Given the description of an element on the screen output the (x, y) to click on. 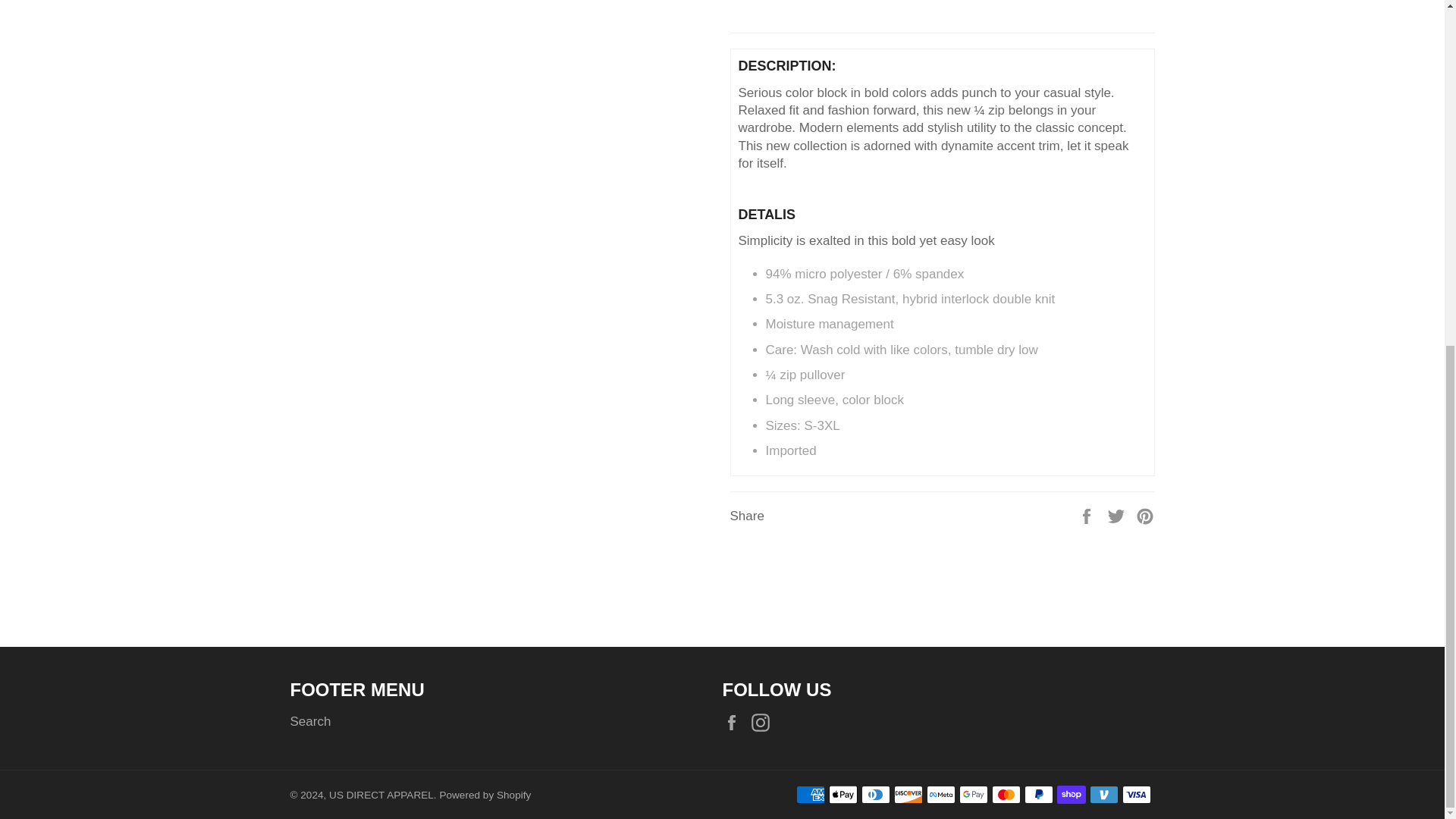
US DIRECT APPAREL on Instagram (764, 722)
Search (309, 721)
Pin on Pinterest (1144, 515)
Instagram (764, 722)
Pin on Pinterest (1144, 515)
Share on Facebook (1088, 515)
Tweet on Twitter (1117, 515)
Share on Facebook (1088, 515)
US DIRECT APPAREL (381, 794)
Facebook (735, 722)
